Given the description of an element on the screen output the (x, y) to click on. 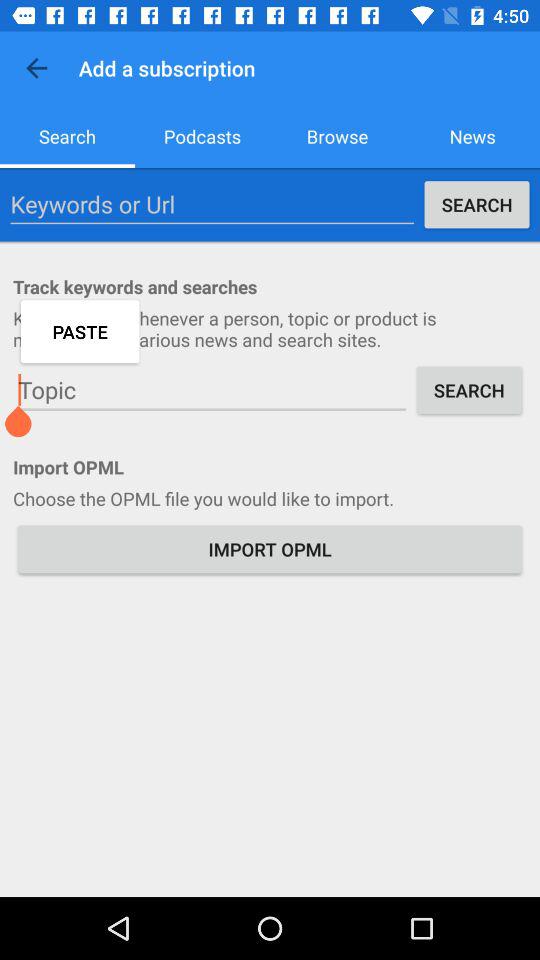
tap browse icon (337, 136)
